Given the description of an element on the screen output the (x, y) to click on. 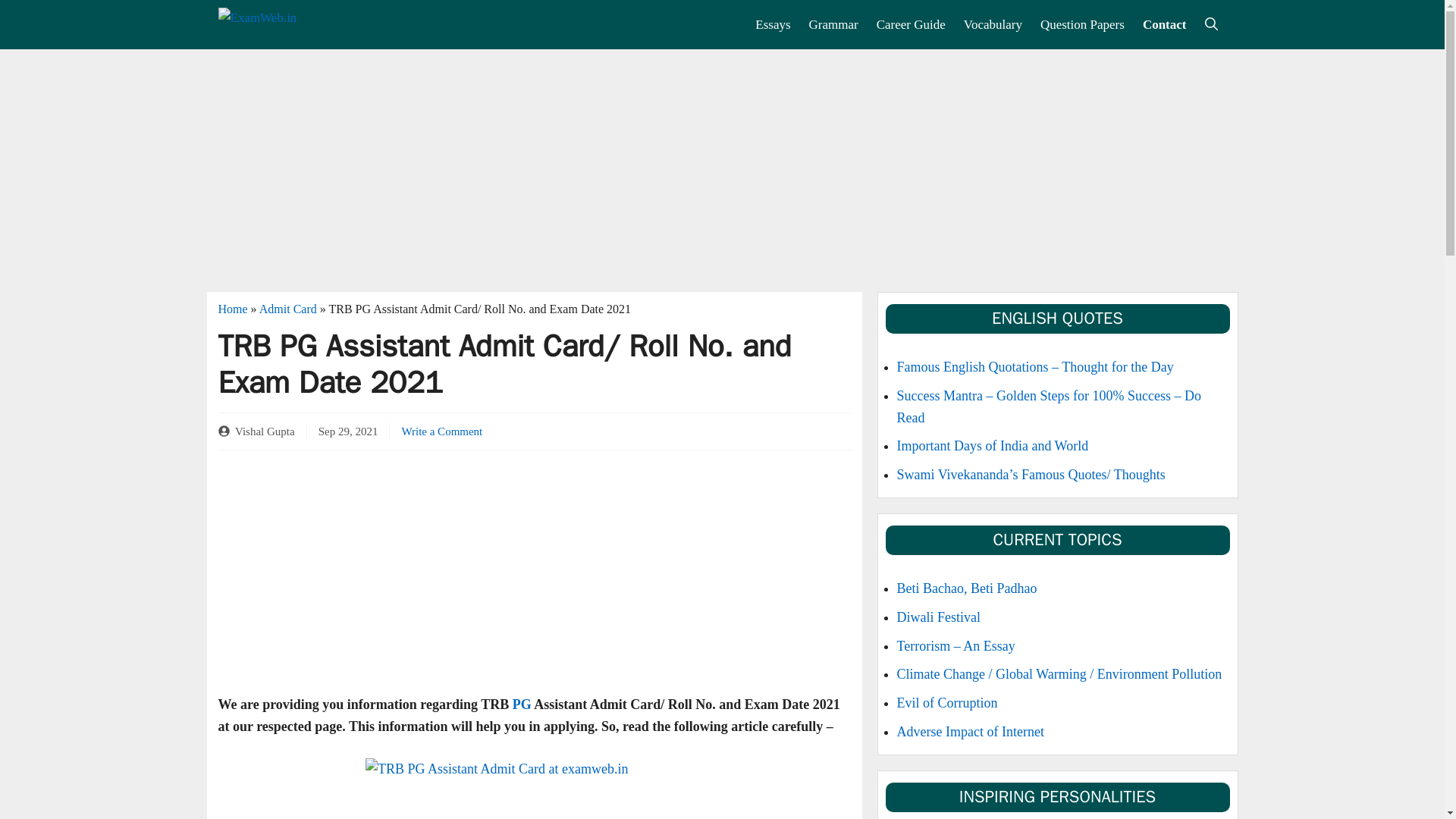
Admit Card (288, 308)
Beti Bachao, Beti Padhao (966, 588)
ExamWeb.in (291, 24)
Evil of Corruption (946, 702)
Grammar (833, 24)
Home (232, 308)
Important Days of India and World (991, 445)
Diwali Festival (937, 616)
Question Papers (1082, 24)
Vocabulary (992, 24)
Adverse Impact of Internet (969, 731)
Essays (772, 24)
Write a Comment (441, 431)
PG (521, 703)
Contact (1164, 24)
